Given the description of an element on the screen output the (x, y) to click on. 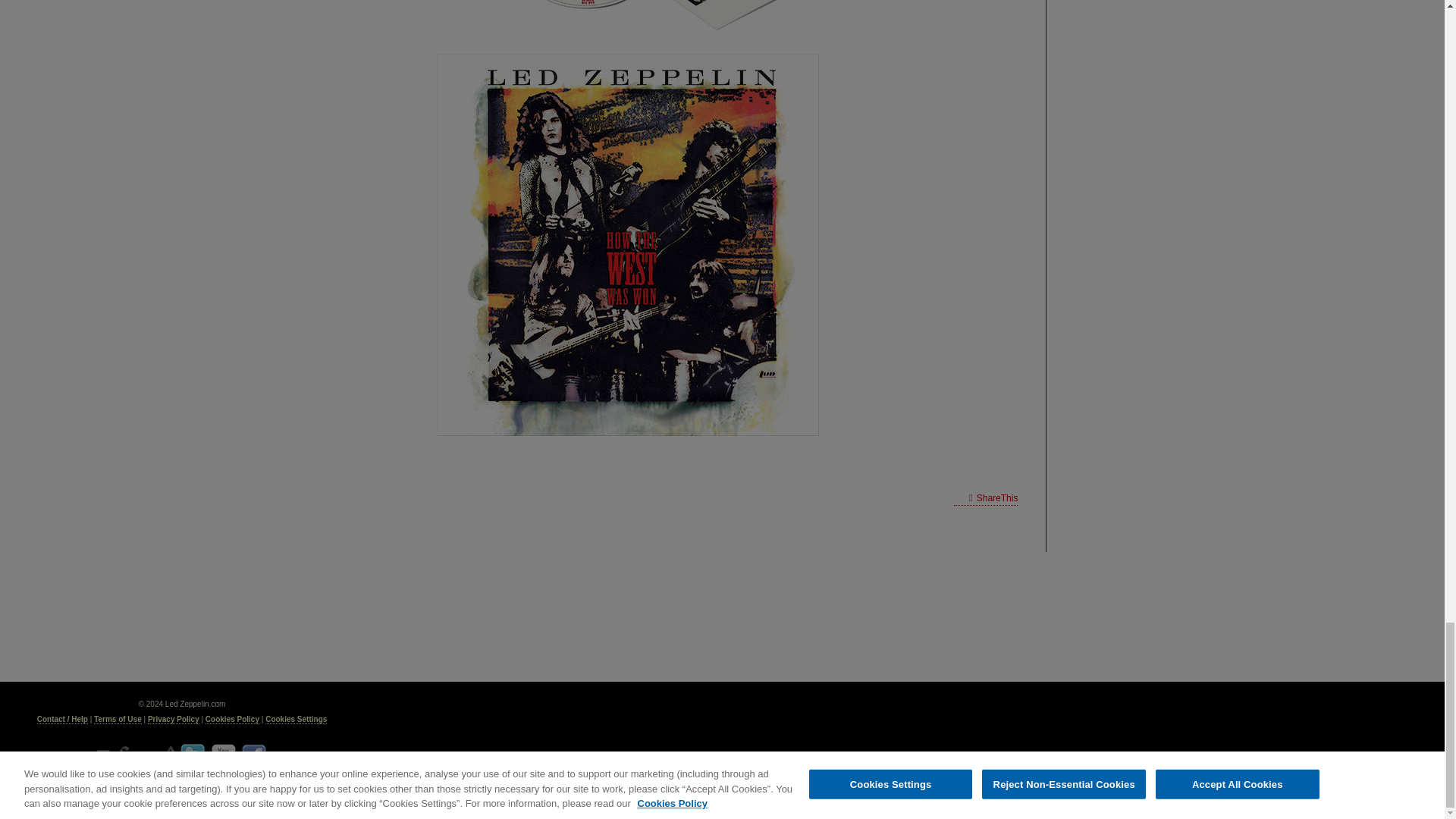
Cookies Settings (295, 718)
ShareThis (985, 498)
Cookies Policy (232, 718)
Privacy Policy (173, 718)
Terms of Use (117, 718)
